Given the description of an element on the screen output the (x, y) to click on. 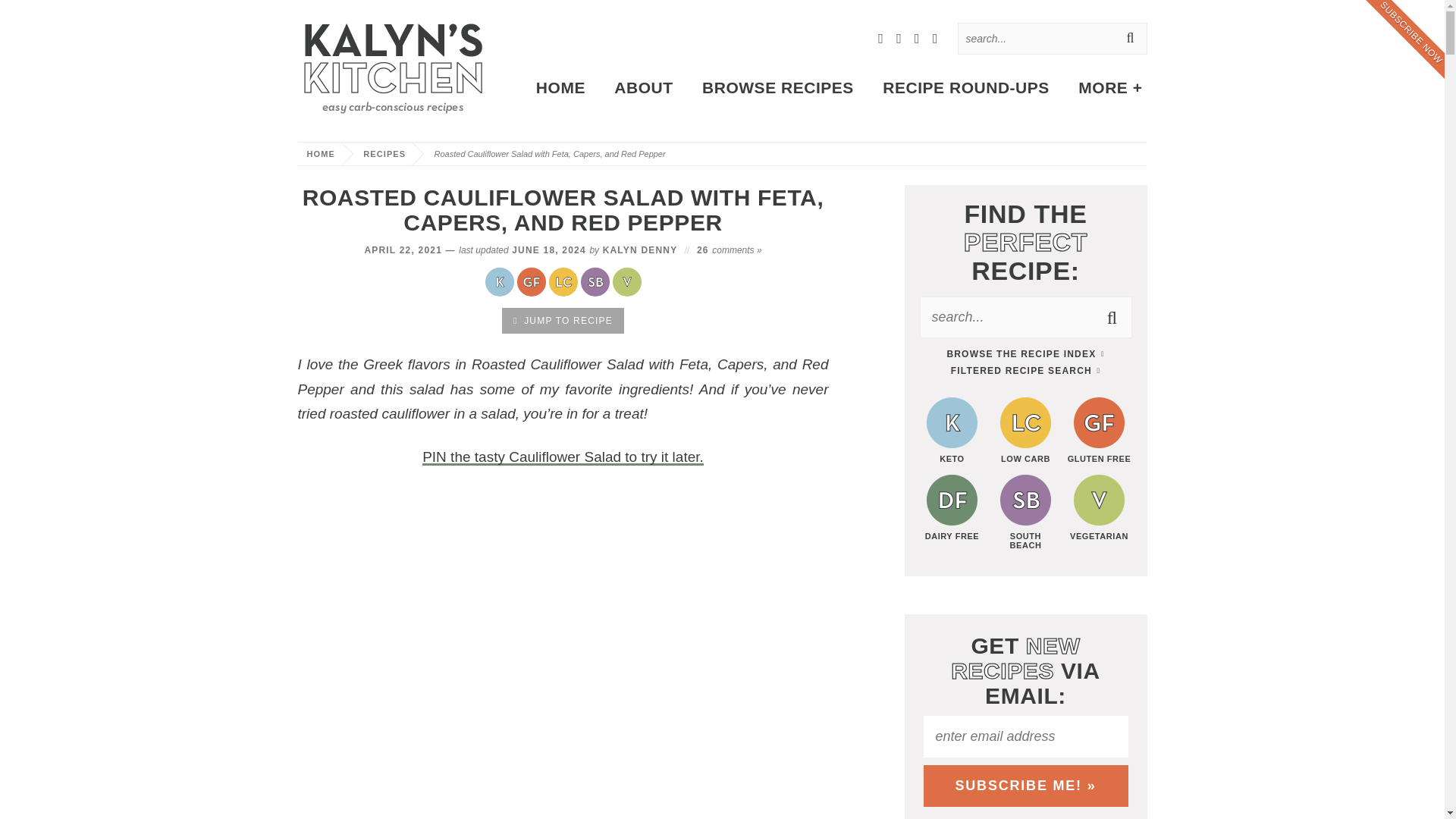
Kalyn's Kitchen (391, 65)
